Given the description of an element on the screen output the (x, y) to click on. 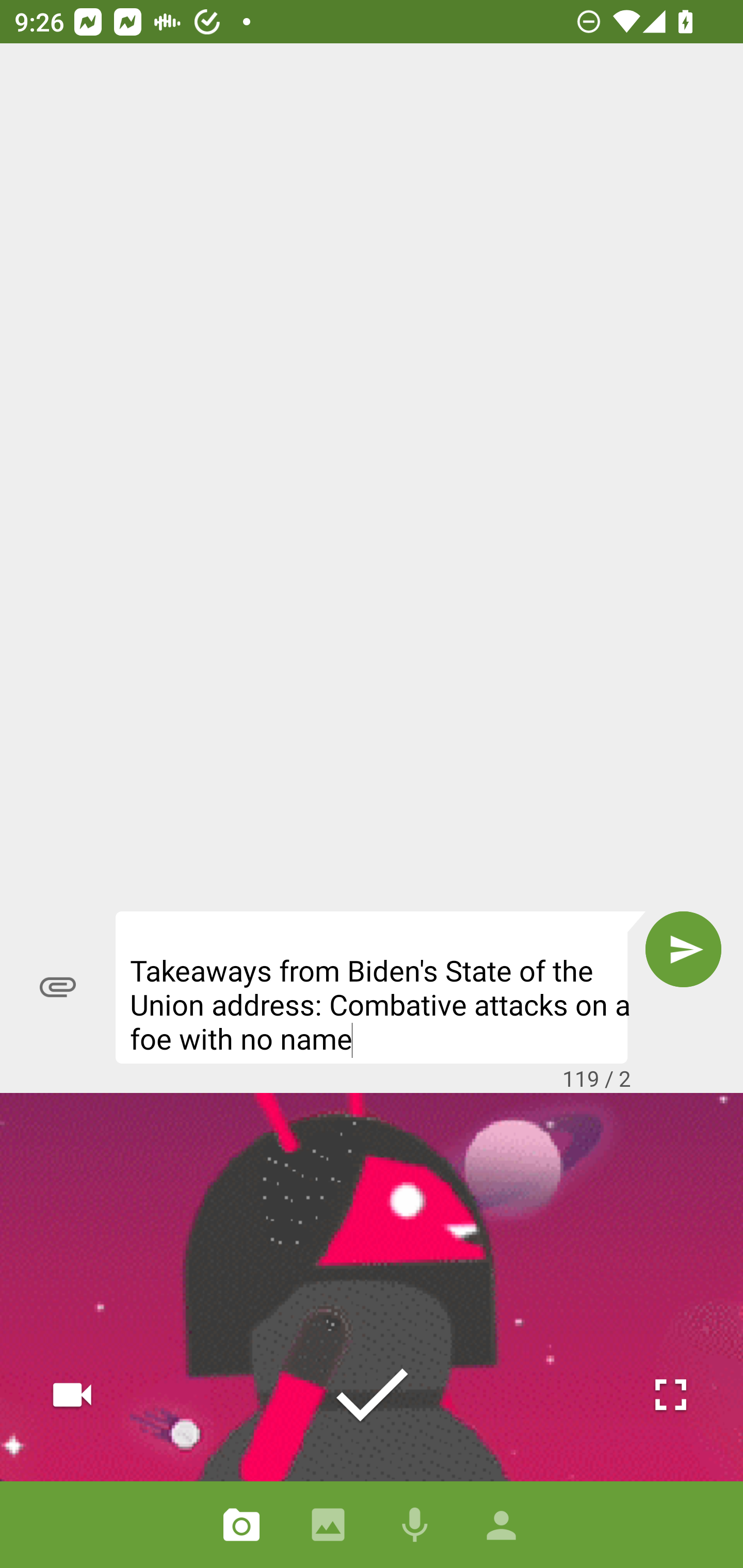
Add an attachment (57, 987)
Take picture (371, 1394)
Capture video (71, 1394)
Switch to full screen camera (670, 1394)
Capture pictures or video (241, 1524)
Choose images from this device (327, 1524)
Record audio (414, 1524)
Choose a contact from this device (501, 1524)
